Given the description of an element on the screen output the (x, y) to click on. 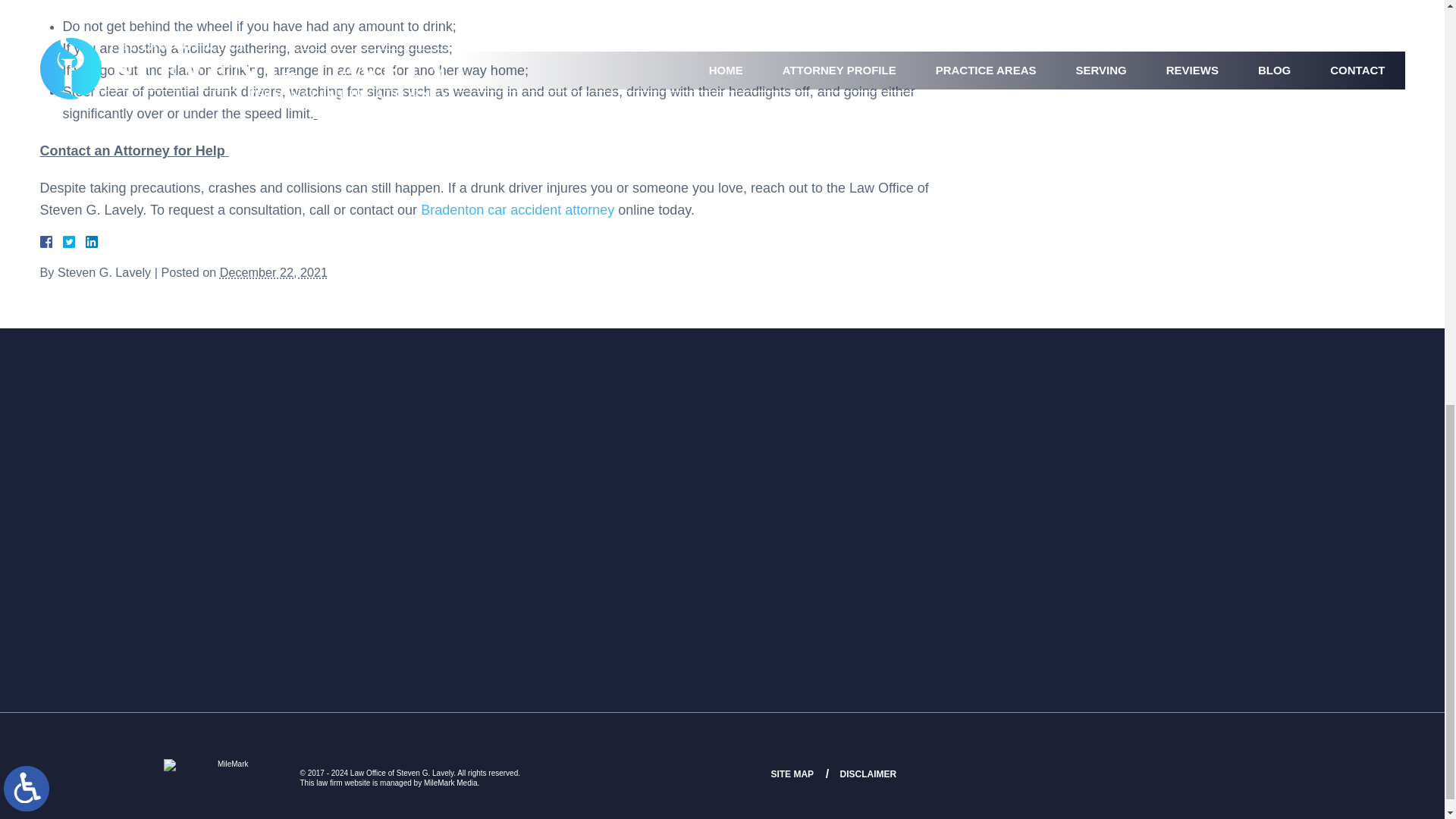
Bradenton car accident attorney (517, 209)
MileMark Media (226, 772)
2021-12-22T09:53:43-0800 (273, 272)
